Given the description of an element on the screen output the (x, y) to click on. 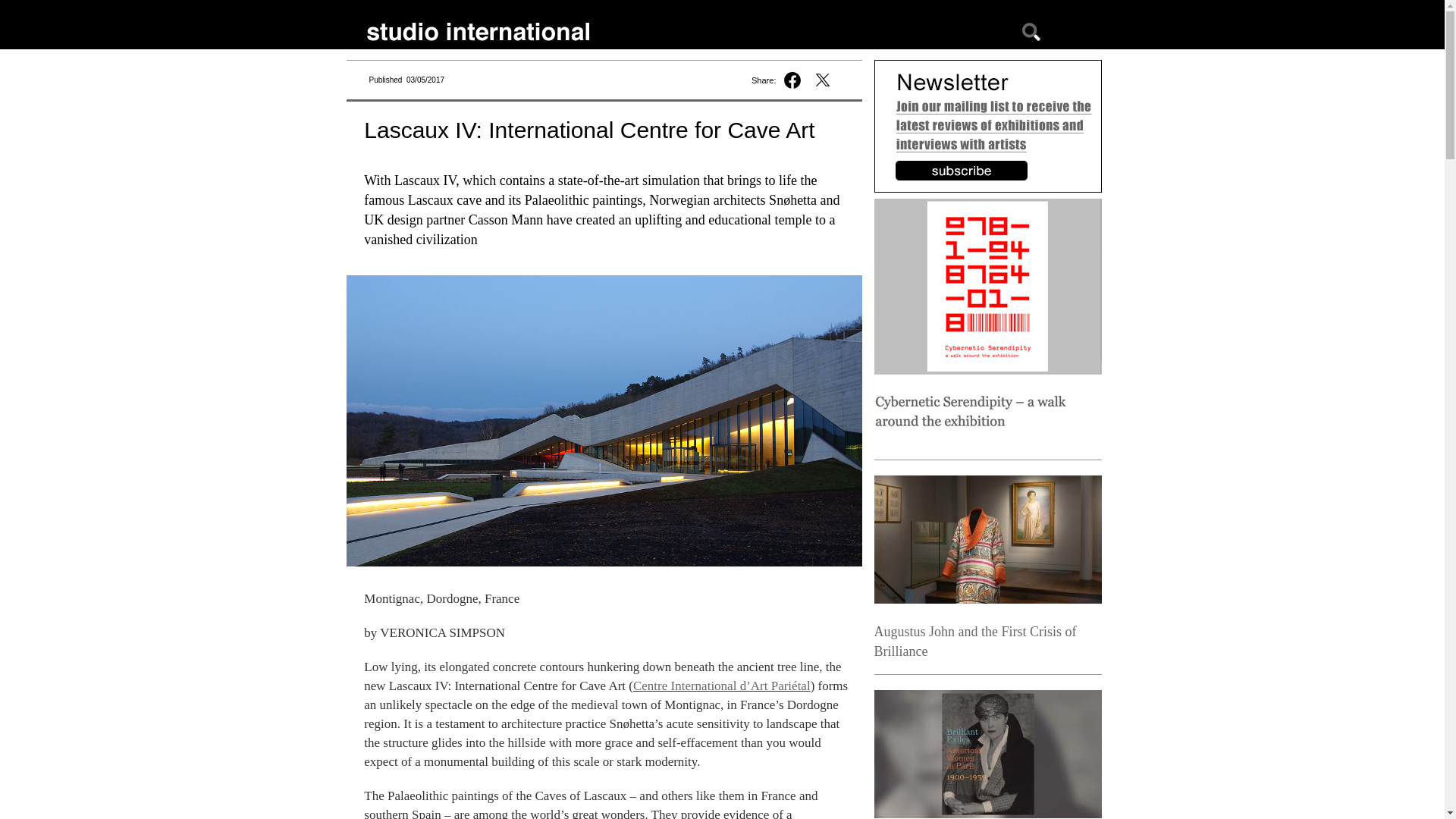
Augustus John and the First Crisis of Brilliance (974, 641)
